Given the description of an element on the screen output the (x, y) to click on. 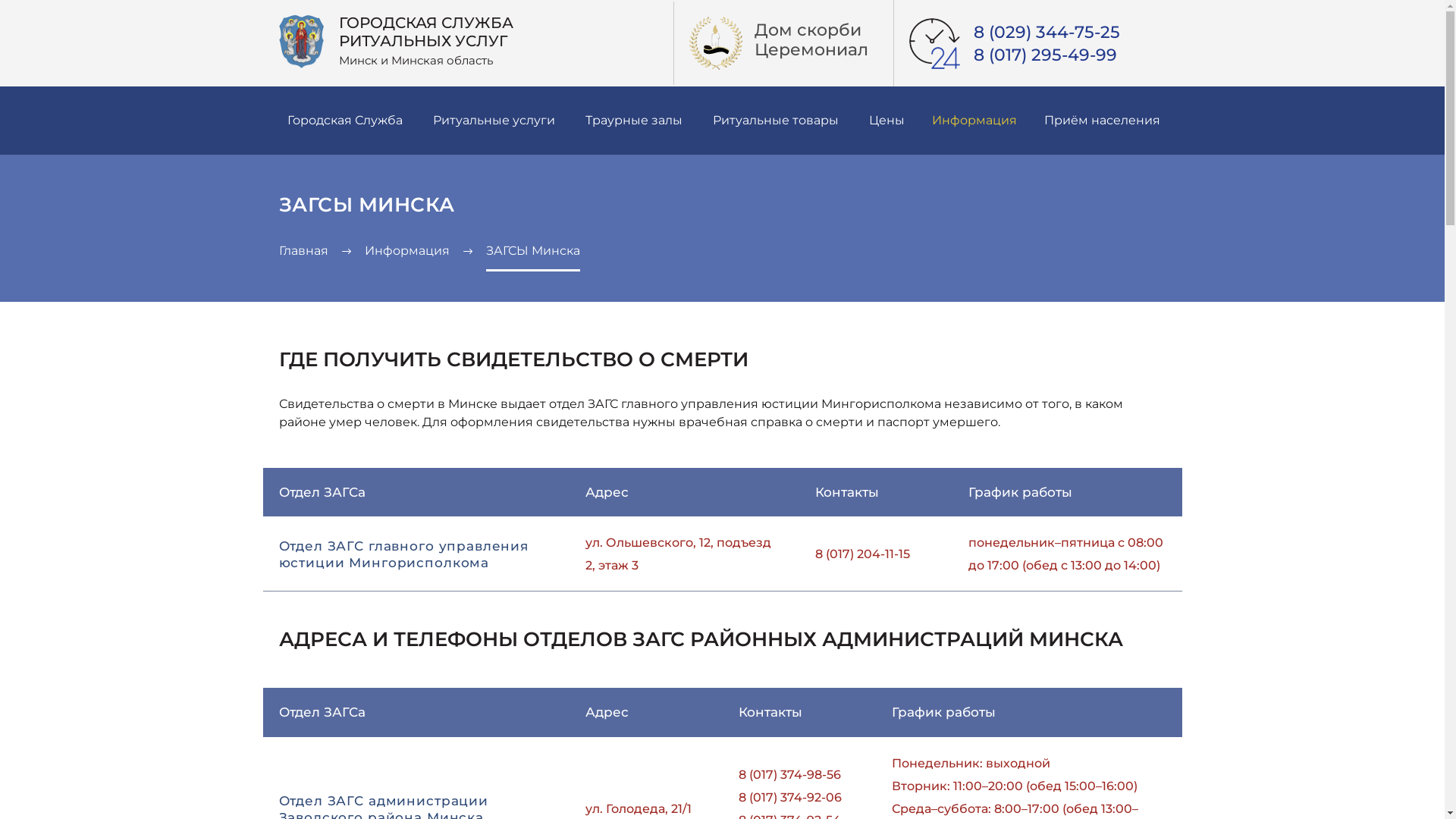
8 (029) 344-75-25 Element type: text (1046, 32)
8 (017) 295-49-99 Element type: text (1045, 55)
